Given the description of an element on the screen output the (x, y) to click on. 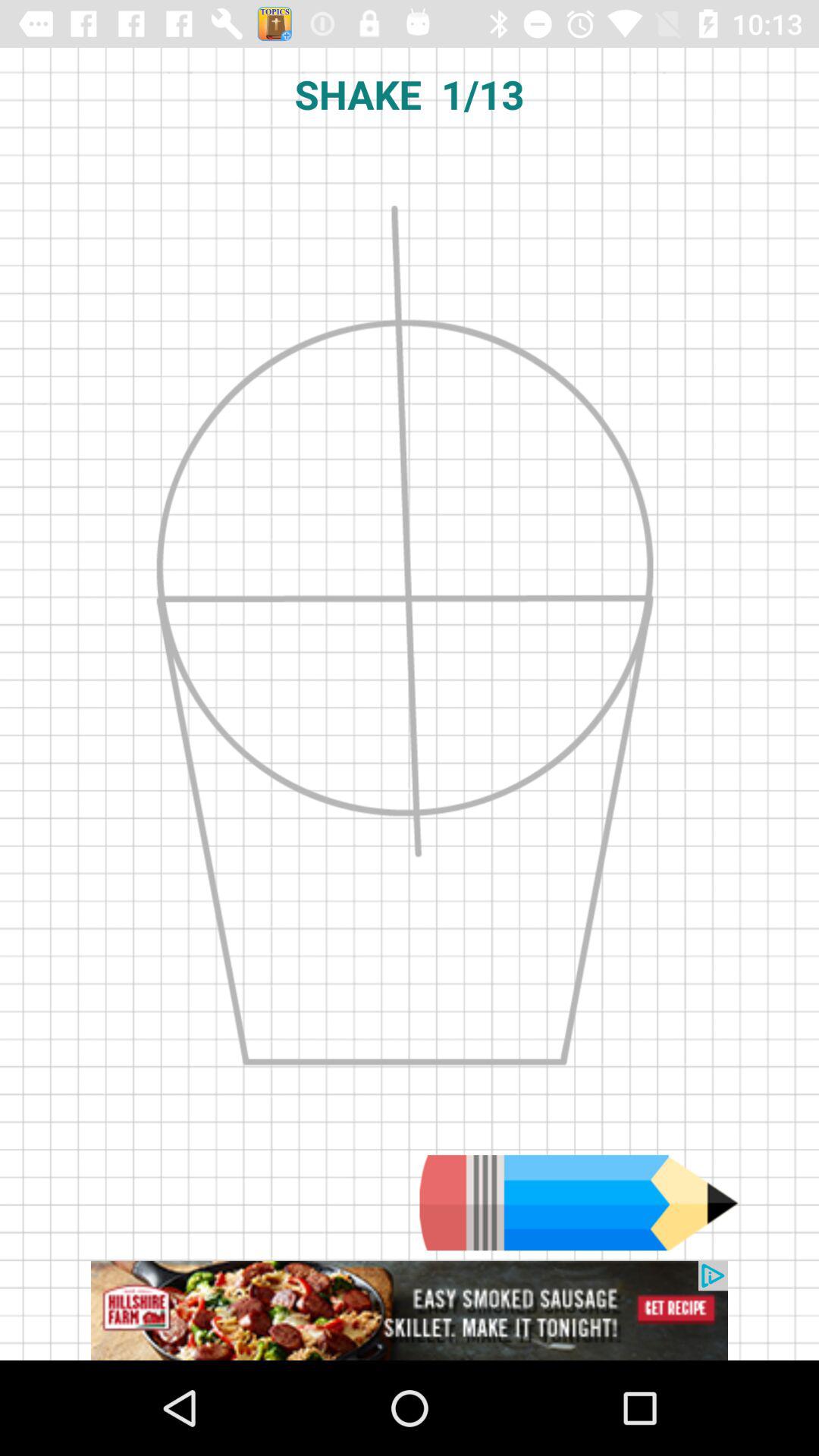
go to advertisement source (409, 1310)
